Given the description of an element on the screen output the (x, y) to click on. 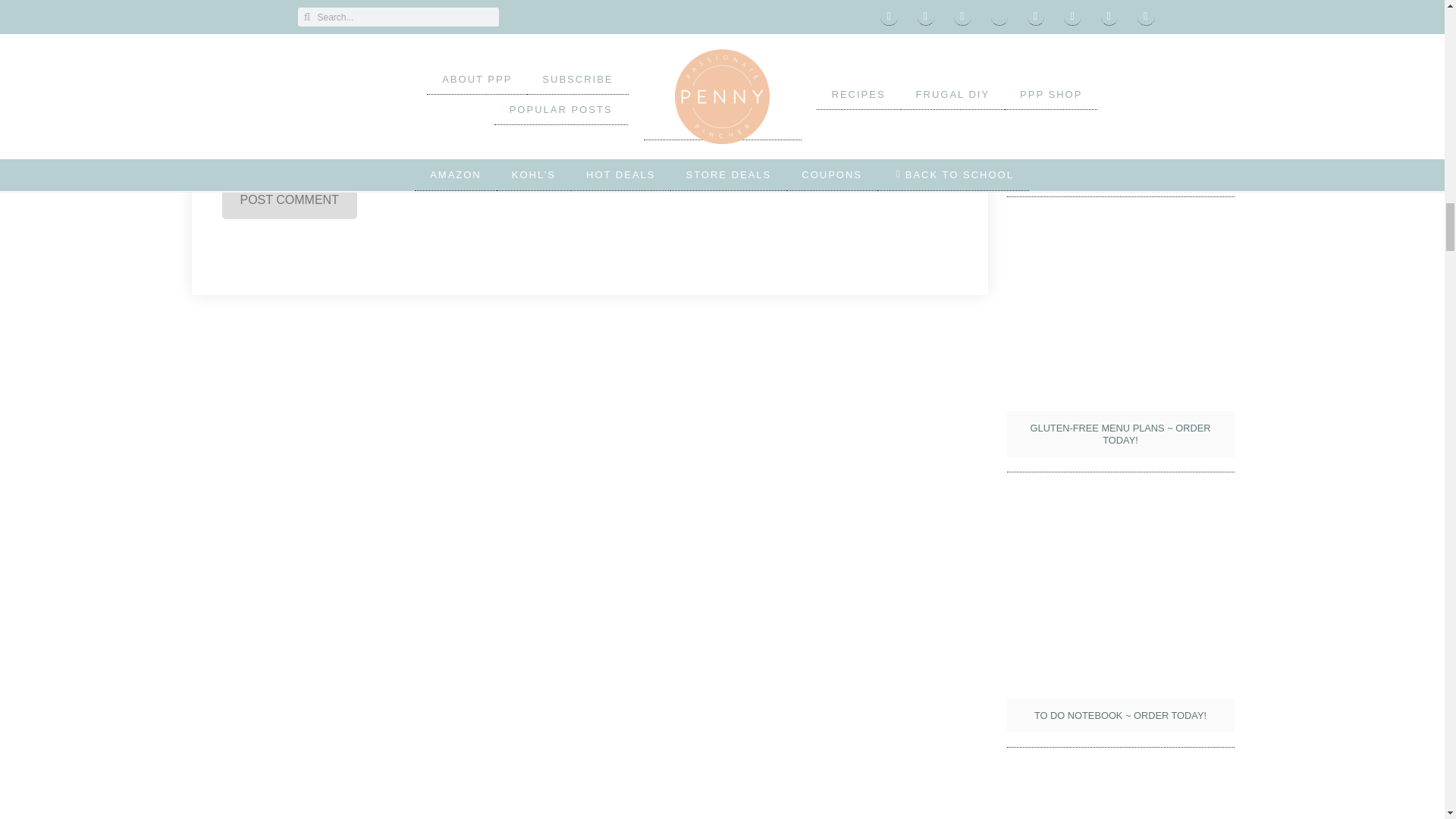
Post Comment (288, 199)
yes (226, 132)
